Given the description of an element on the screen output the (x, y) to click on. 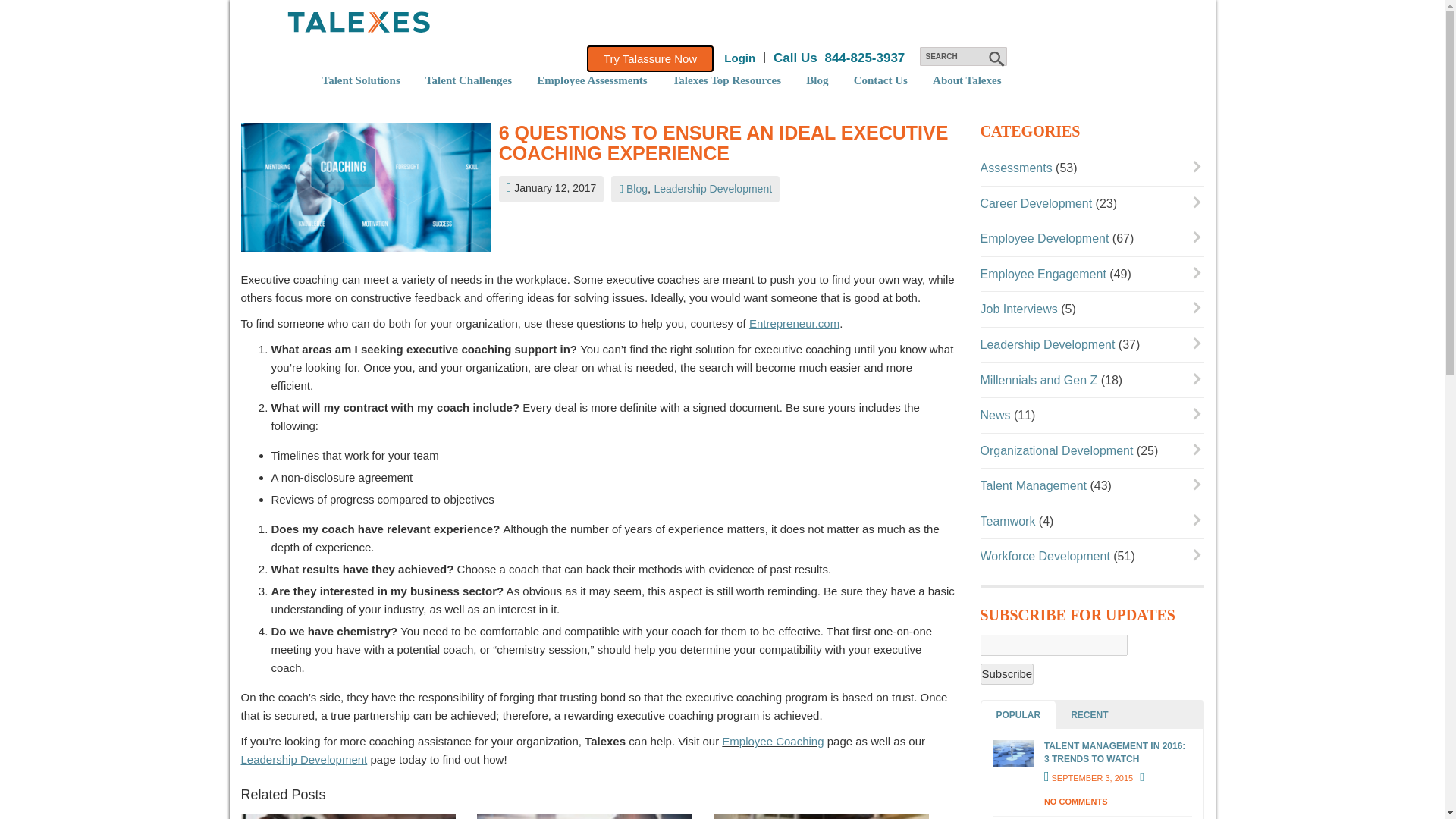
submit (994, 58)
Subscribe (1006, 673)
SEARCH (962, 56)
6 Questions to Ensure an Ideal Executive Coaching Experience (728, 143)
submit (994, 58)
Talent Solutions (359, 80)
Login (739, 57)
Talent Challenges (468, 80)
6 Questions to Ensure an Ideal Executive Coaching Experience (366, 190)
Try Talassure Now (649, 58)
Creating Ownership Enables Change Management Success (585, 816)
The Key to Engaging Millennials (820, 816)
View all posts in Leadership Development (712, 188)
Talent Management in 2016: 3 Trends to Watch (1012, 754)
